Given the description of an element on the screen output the (x, y) to click on. 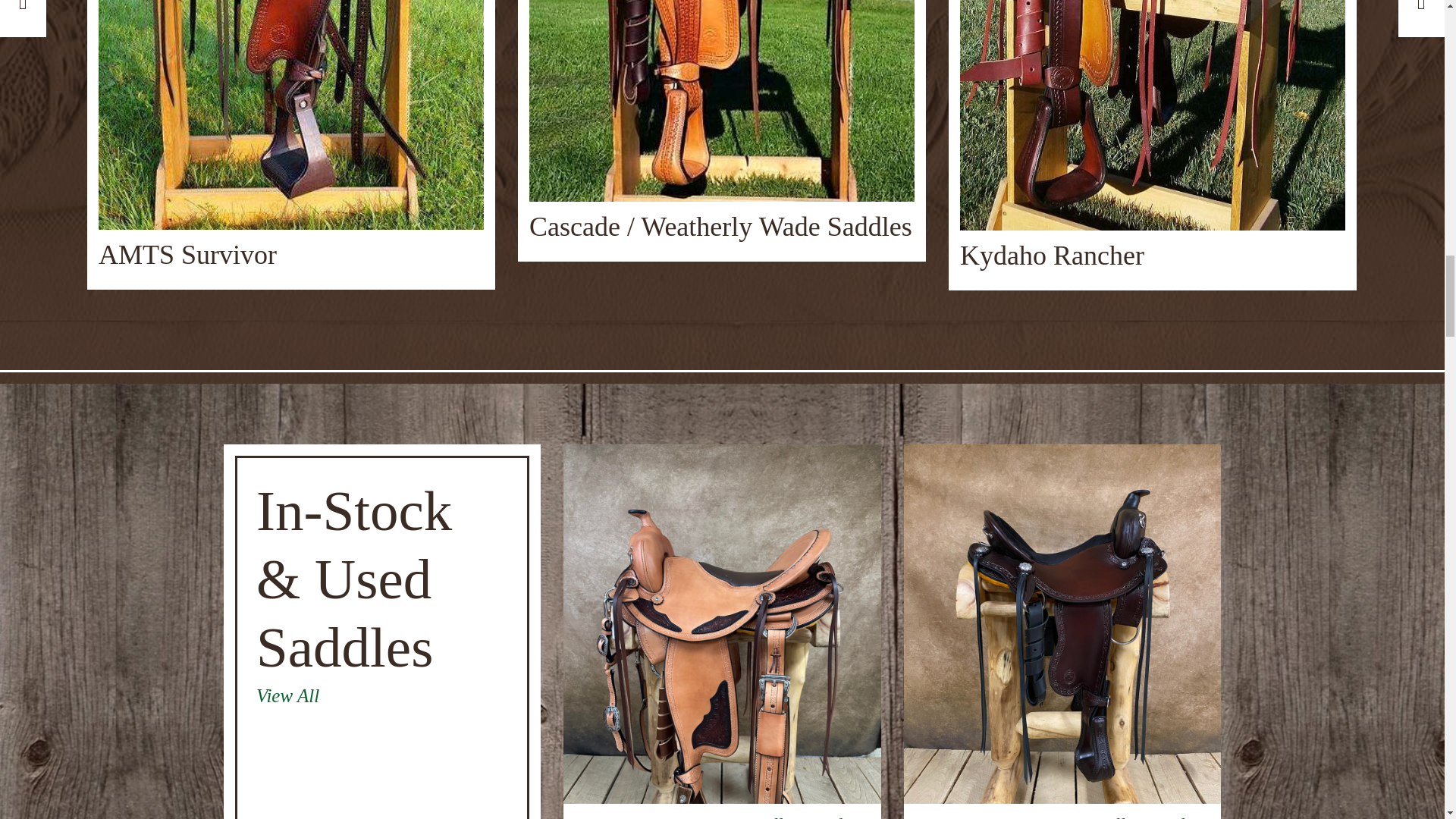
Kydaho Rancher (1152, 134)
View All (382, 695)
AMTS Survivor (291, 134)
